Given the description of an element on the screen output the (x, y) to click on. 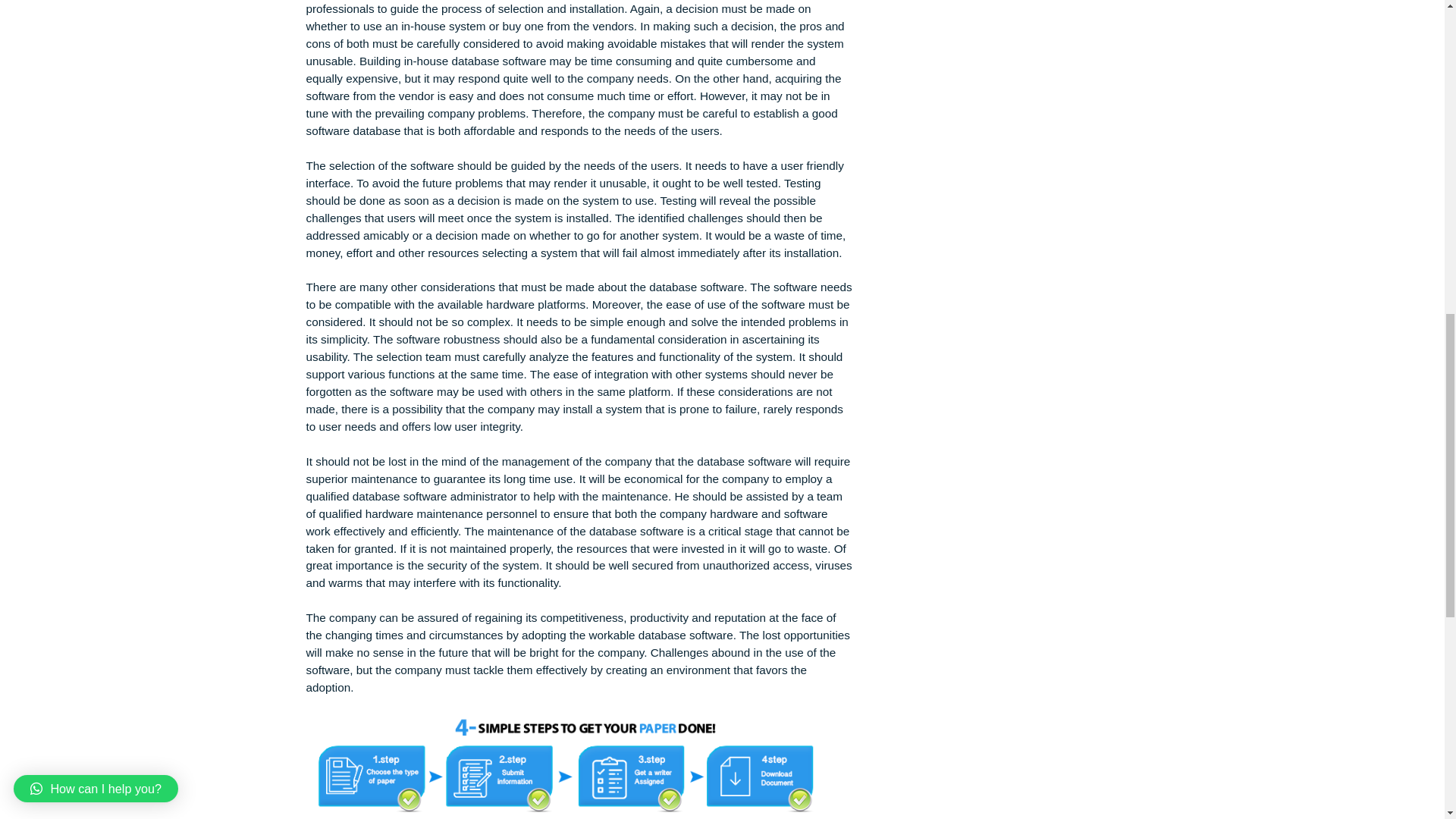
How can I help you? (106, 57)
